Given the description of an element on the screen output the (x, y) to click on. 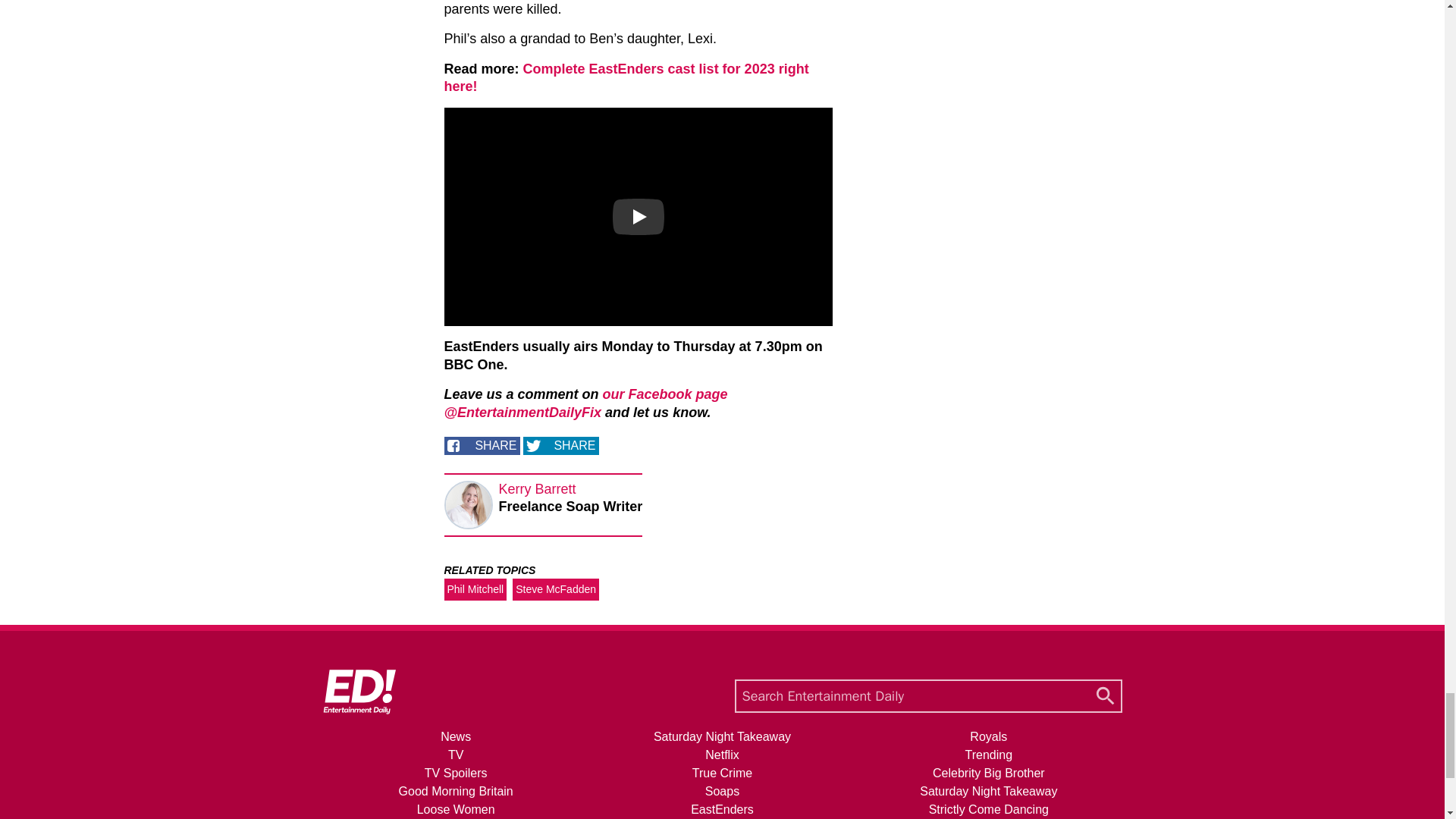
Play Video (637, 217)
SHARE (481, 445)
Complete EastEnders cast list for 2023 right here! (626, 77)
